Given the description of an element on the screen output the (x, y) to click on. 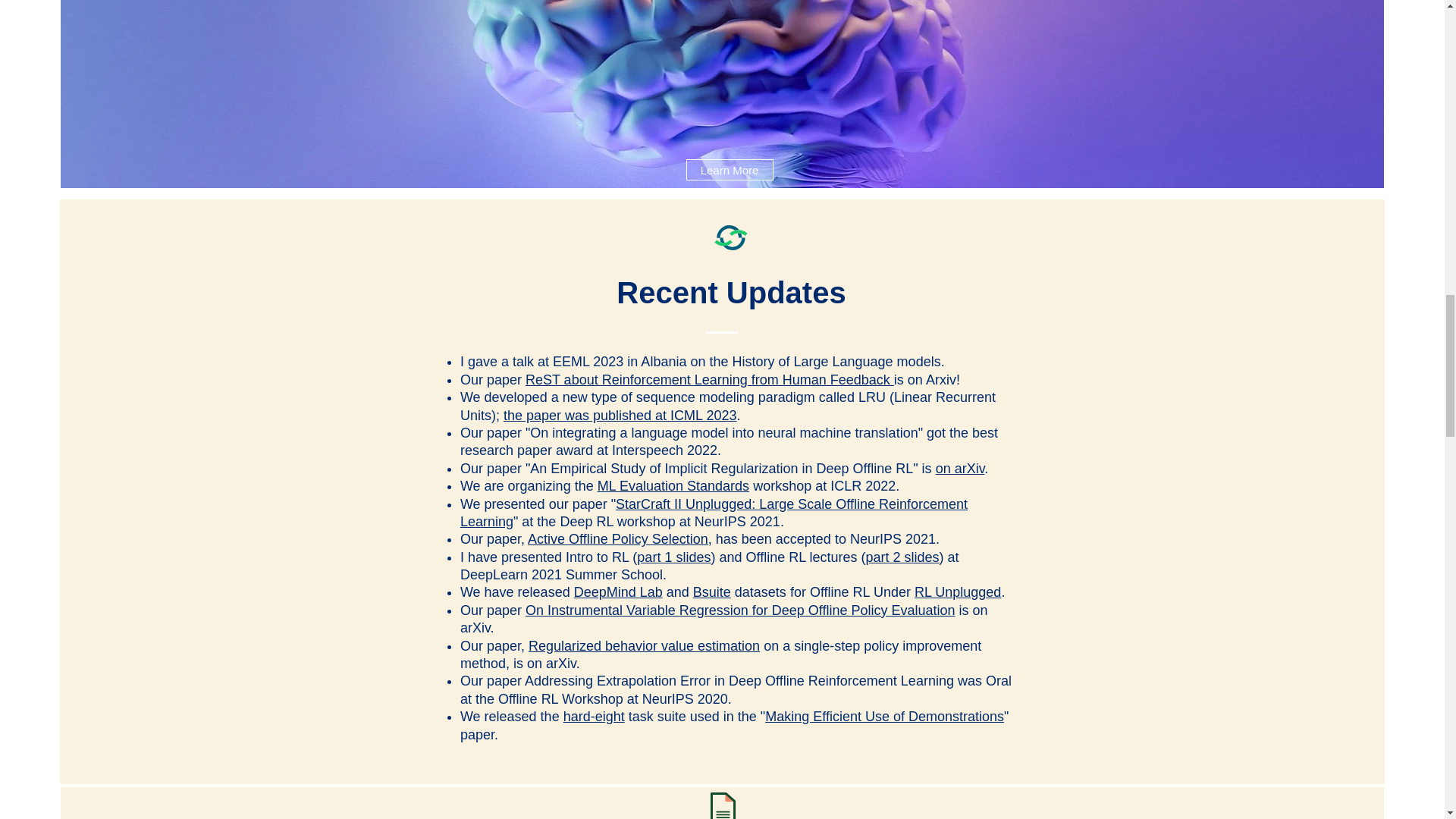
RL Unplugged (957, 591)
part 2 slides (902, 557)
Learn More (729, 169)
the paper was published at ICML 2023 (619, 415)
part 1 slides (673, 557)
Bsuite (711, 591)
ReST about Reinforcement Learning from Human Feedback  (709, 379)
DeepMind Lab (617, 591)
on arXiv (960, 468)
Regularized behavior value estimation (644, 645)
ML Evaluation Standards (672, 485)
